Given the description of an element on the screen output the (x, y) to click on. 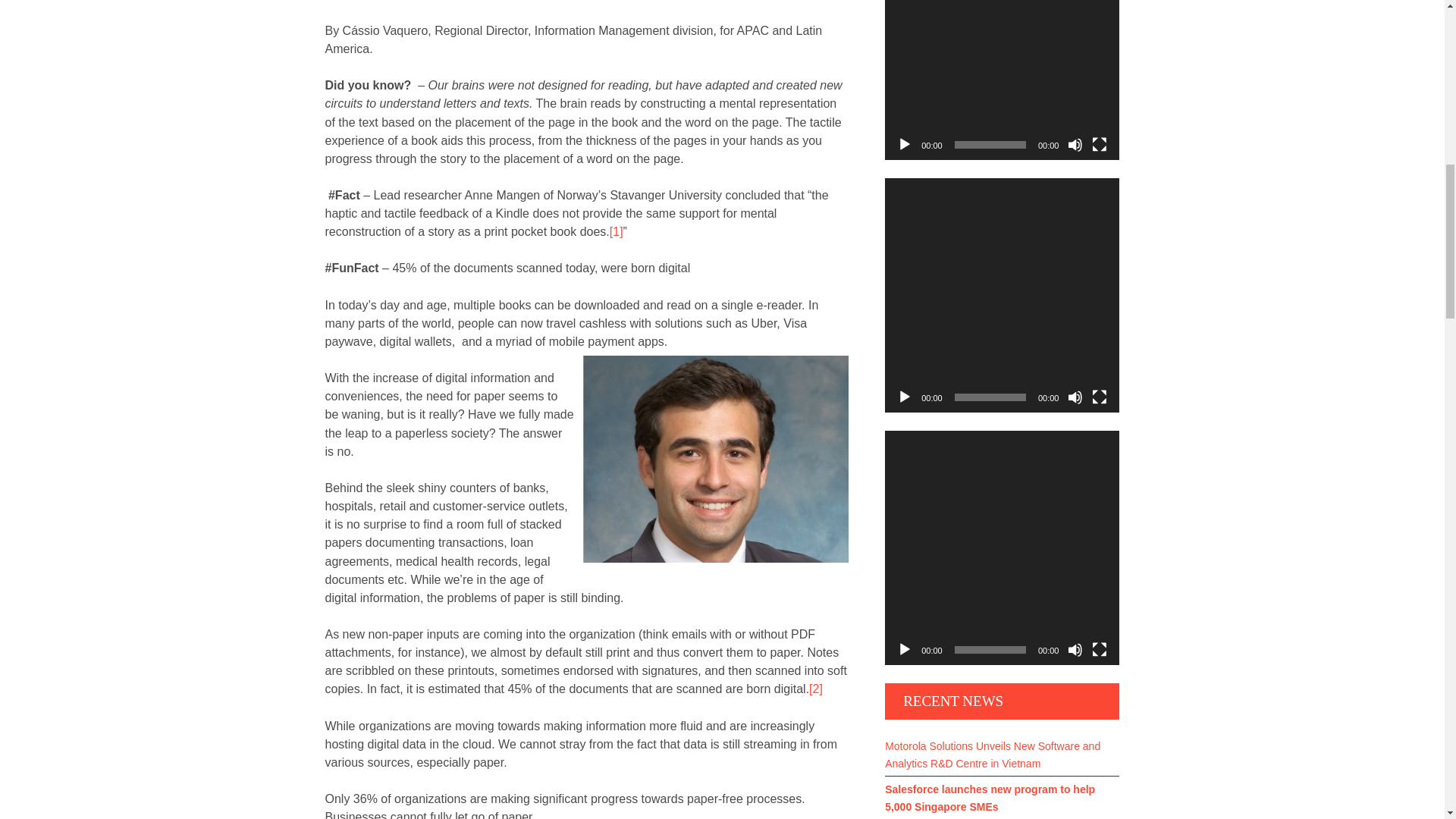
Mute (1075, 649)
Play (904, 396)
Mute (1075, 396)
Fullscreen (1099, 144)
Play (904, 144)
Play (904, 649)
Mute (1075, 144)
Fullscreen (1099, 649)
Fullscreen (1099, 396)
